Given the description of an element on the screen output the (x, y) to click on. 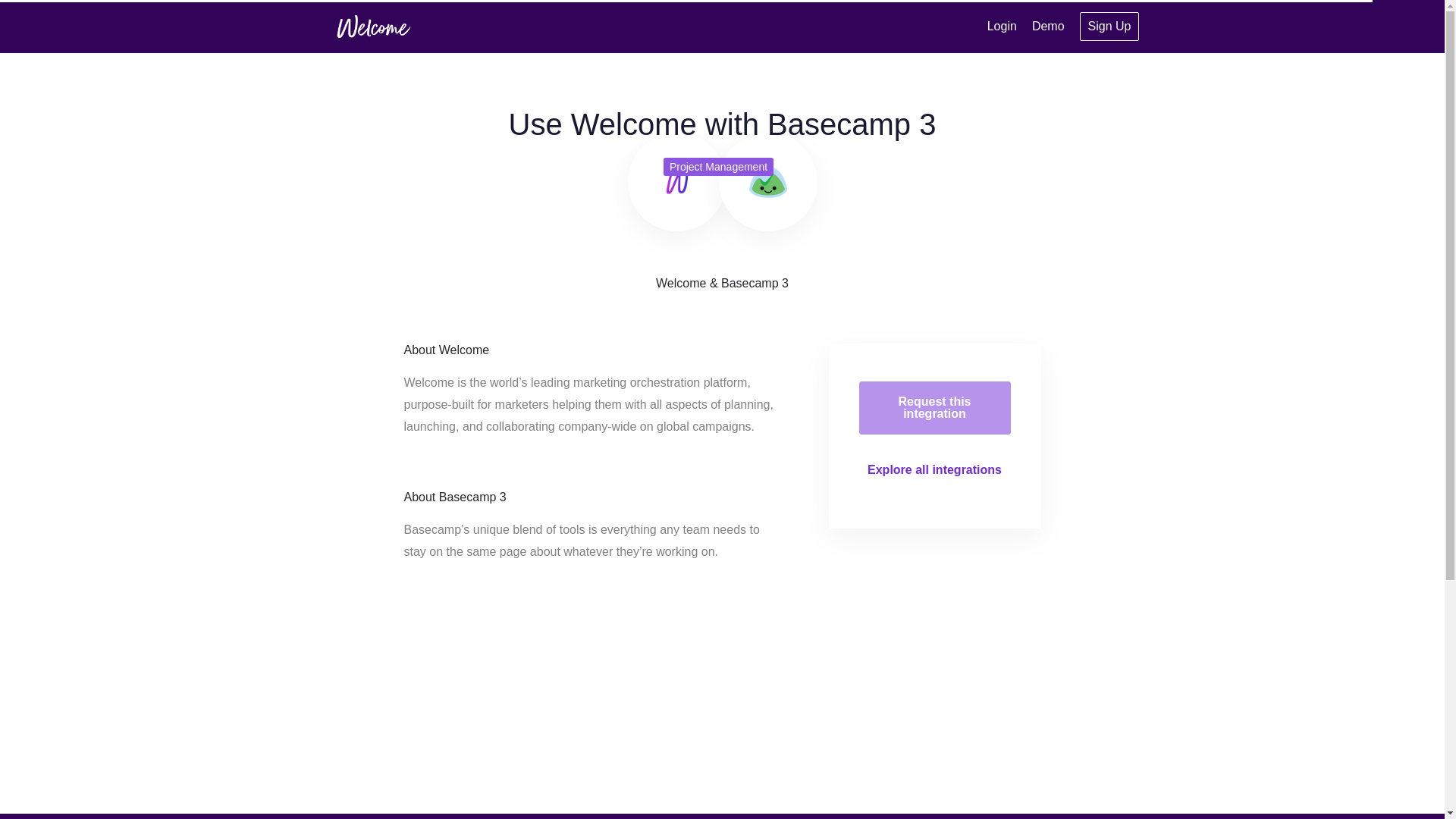
Demo (1048, 25)
Request this integration (934, 407)
Welcome (372, 26)
Basecamp 3 (768, 181)
Explore all integrations (934, 469)
Welcome (676, 181)
Login (1001, 25)
Sign Up (1110, 26)
